Given the description of an element on the screen output the (x, y) to click on. 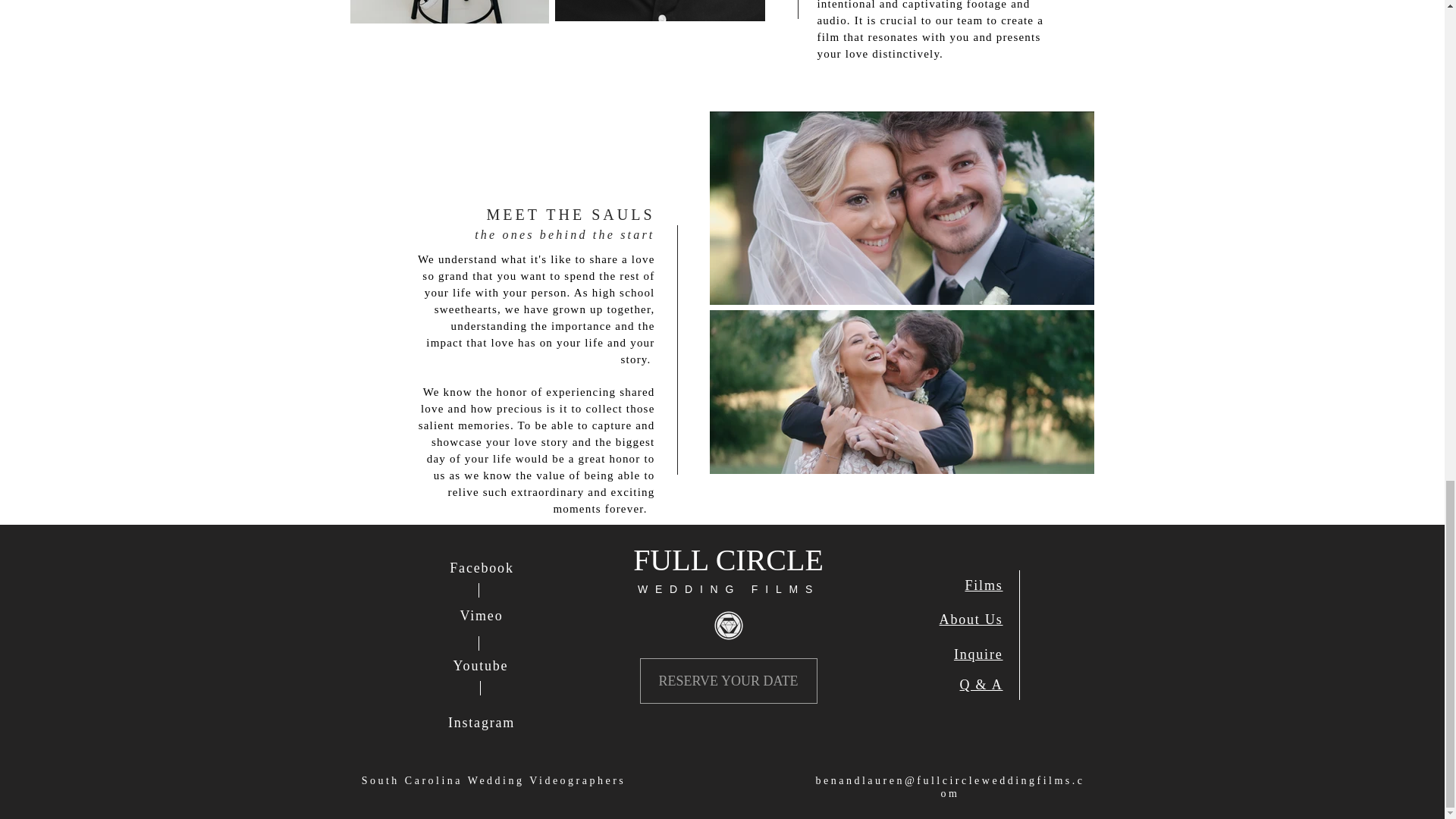
Vimeo (481, 615)
Inquire (978, 654)
Films (983, 585)
About Us (971, 619)
Youtube (480, 665)
South Carolina Wedding Videographers (493, 780)
Facebook (481, 567)
Instagram (481, 722)
RESERVE YOUR DATE (728, 680)
